Given the description of an element on the screen output the (x, y) to click on. 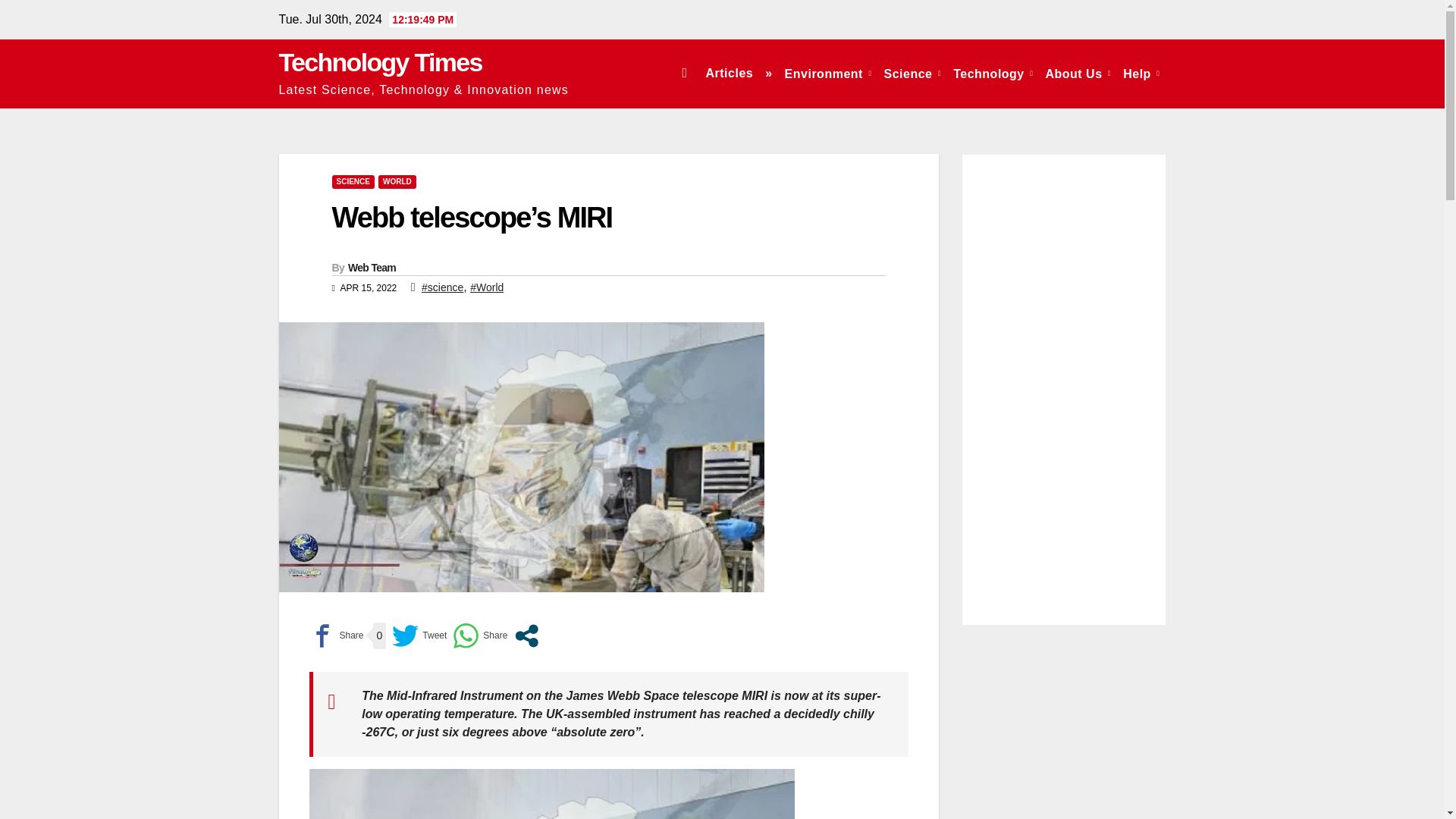
Science (912, 73)
Technology (993, 73)
Environment (827, 73)
About Us (1077, 73)
Science (912, 73)
Technology (993, 73)
Environment (827, 73)
Technology Times (380, 61)
